Given the description of an element on the screen output the (x, y) to click on. 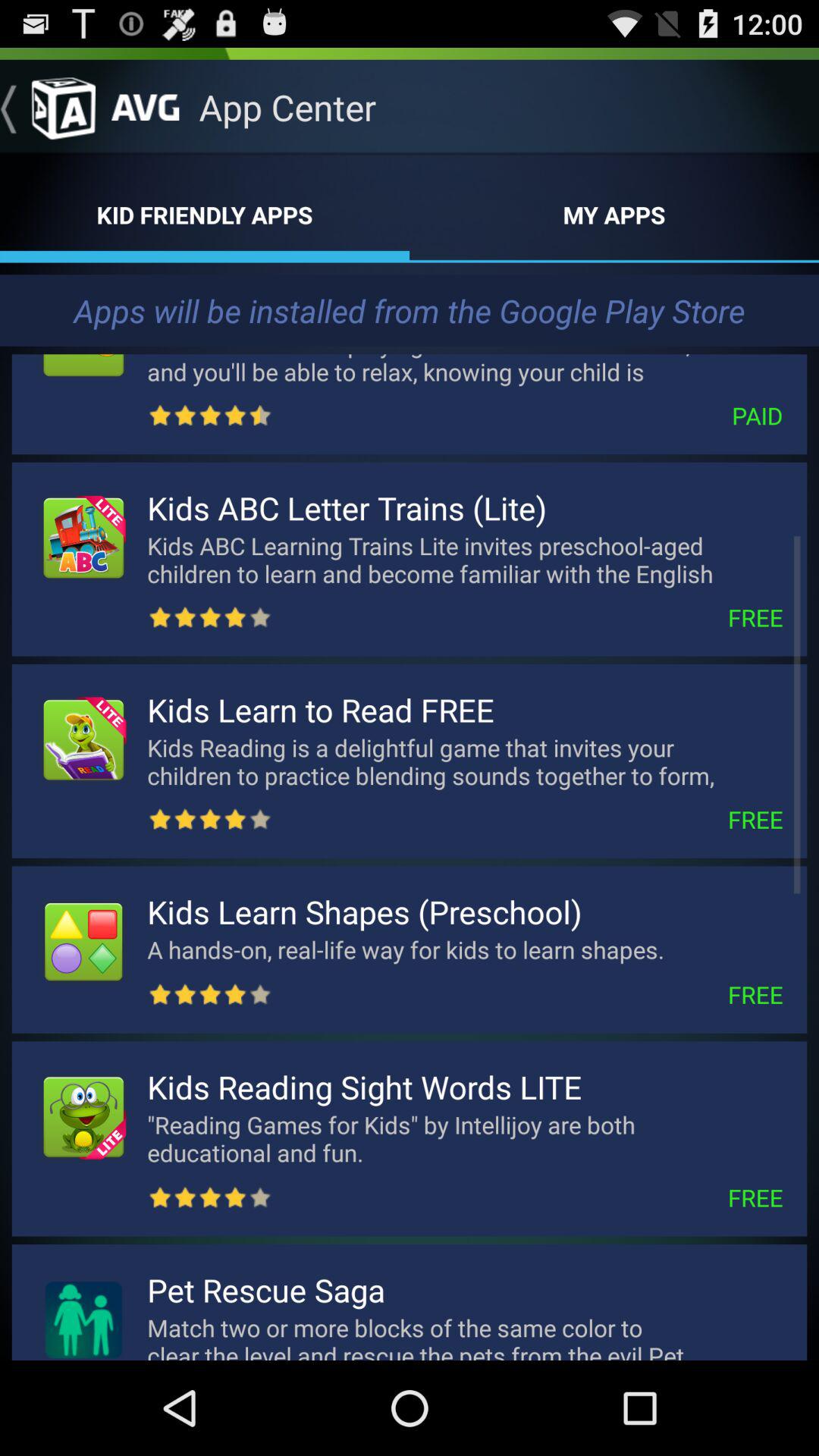
goes back a page (47, 107)
